Given the description of an element on the screen output the (x, y) to click on. 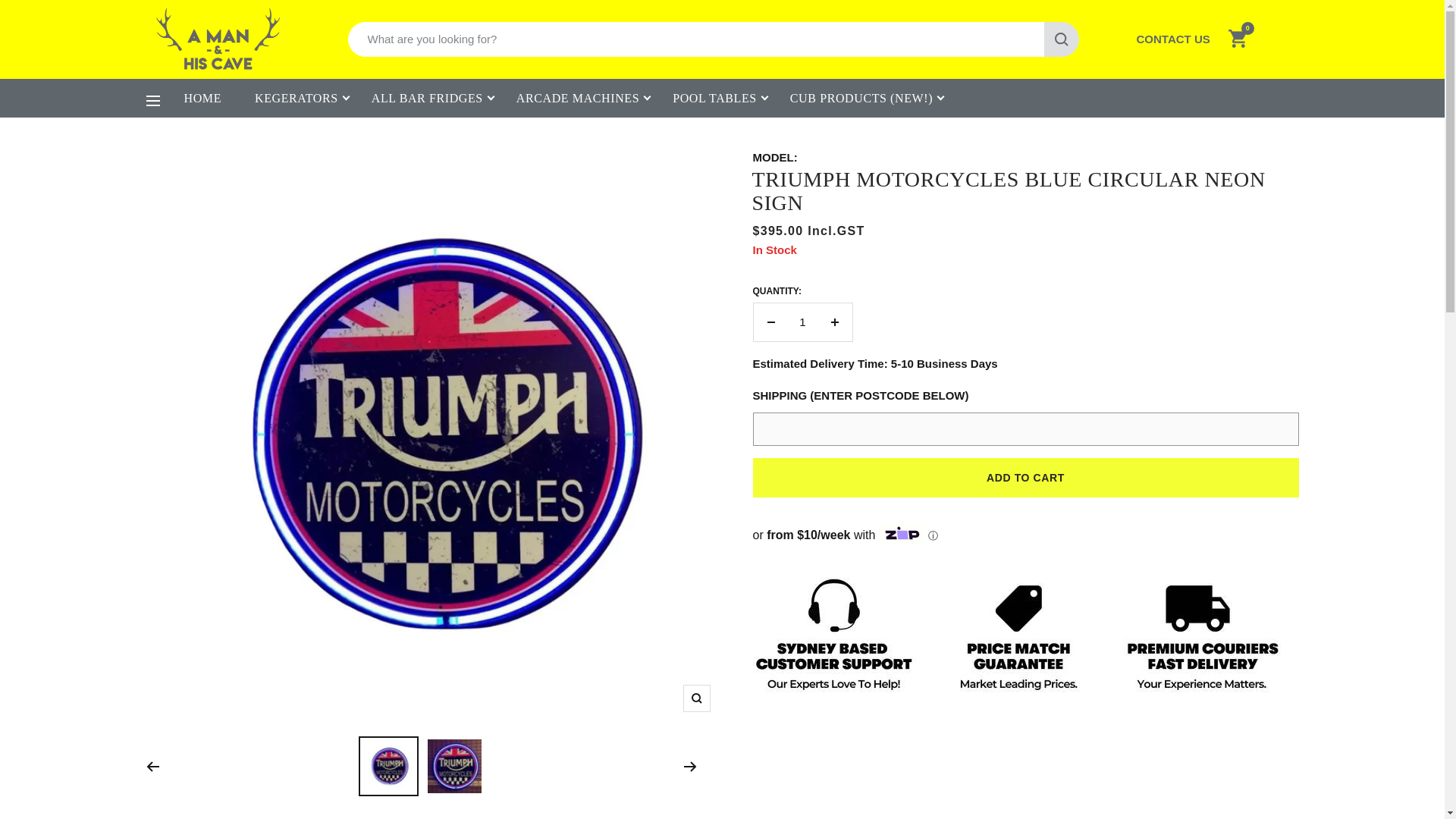
Zoom (696, 697)
0 (1237, 39)
1 (802, 321)
Navigation (151, 100)
ADD TO CART (1025, 477)
CONTACT US (1172, 39)
Increase quantity (833, 322)
HOME (202, 97)
ALL BAR FRIDGES (427, 97)
POOL TABLES (714, 97)
KEGERATORS (295, 97)
ARCADE MACHINES (577, 97)
Decrease quantity (771, 322)
